Given the description of an element on the screen output the (x, y) to click on. 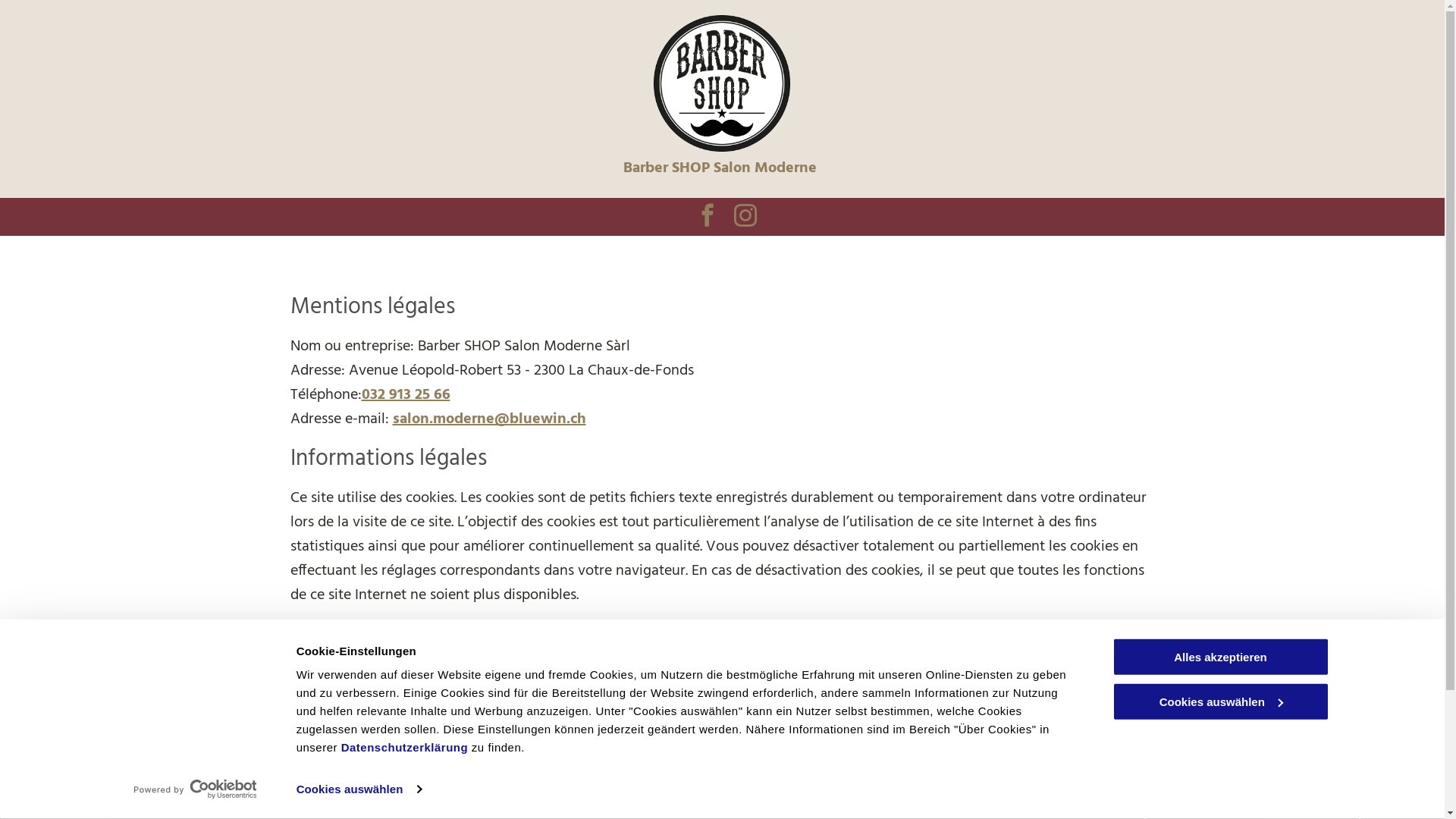
032 913 25 66 Element type: text (404, 394)
local.ch Element type: text (600, 677)
salon.moderne@bluewin.ch Element type: text (489, 419)
Alles akzeptieren Element type: text (1219, 656)
localsearch.ch Element type: text (458, 652)
search.ch Element type: text (679, 677)
